Given the description of an element on the screen output the (x, y) to click on. 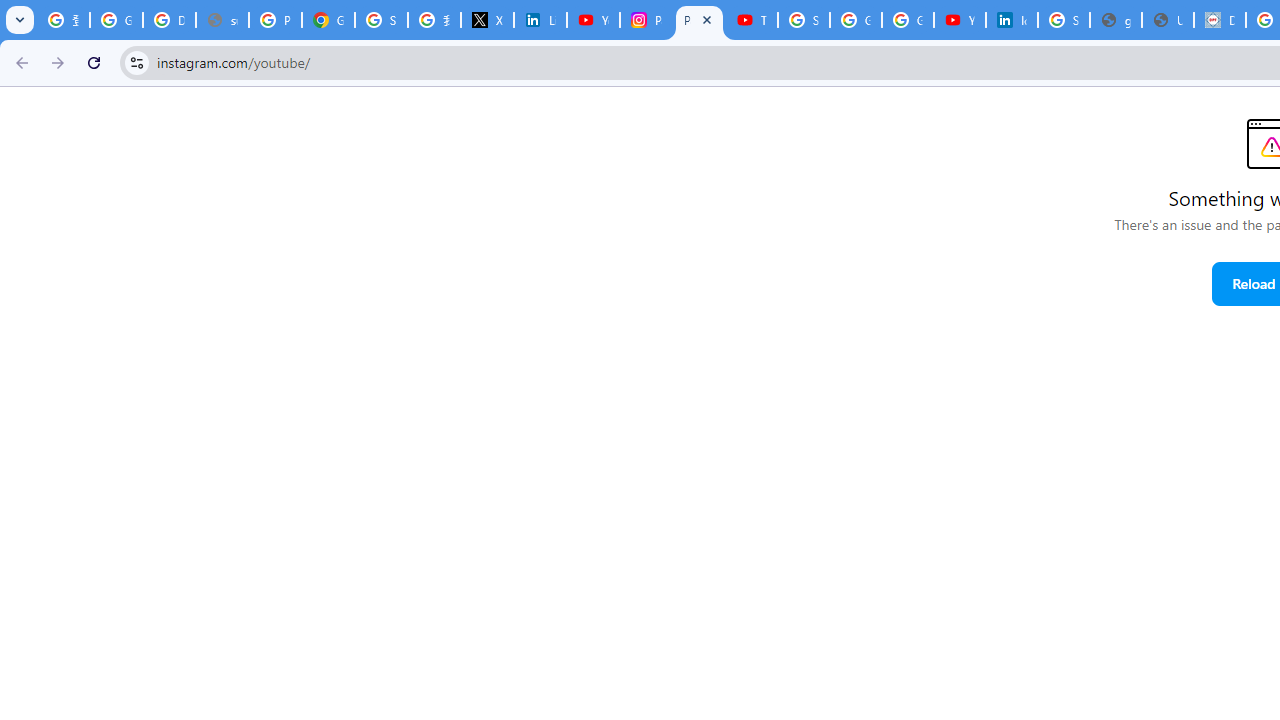
Sign in - Google Accounts (1064, 20)
YouTube Content Monetization Policies - How YouTube Works (593, 20)
google_privacy_policy_en.pdf (1115, 20)
X (487, 20)
Data Privacy Framework (1219, 20)
